Given the description of an element on the screen output the (x, y) to click on. 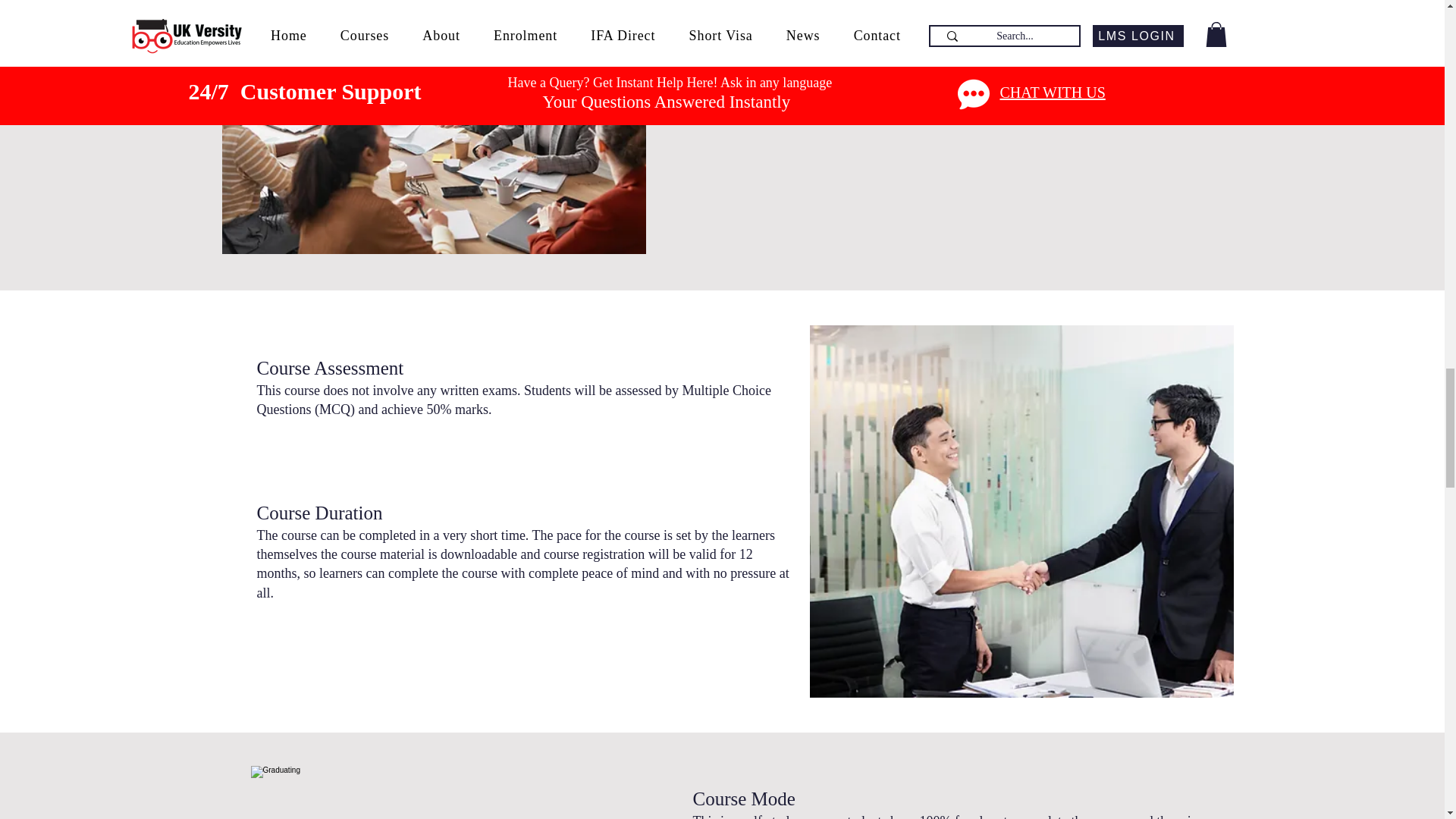
Business Discussion.jpg (462, 792)
Business Meeting.jpg (433, 126)
